Given the description of an element on the screen output the (x, y) to click on. 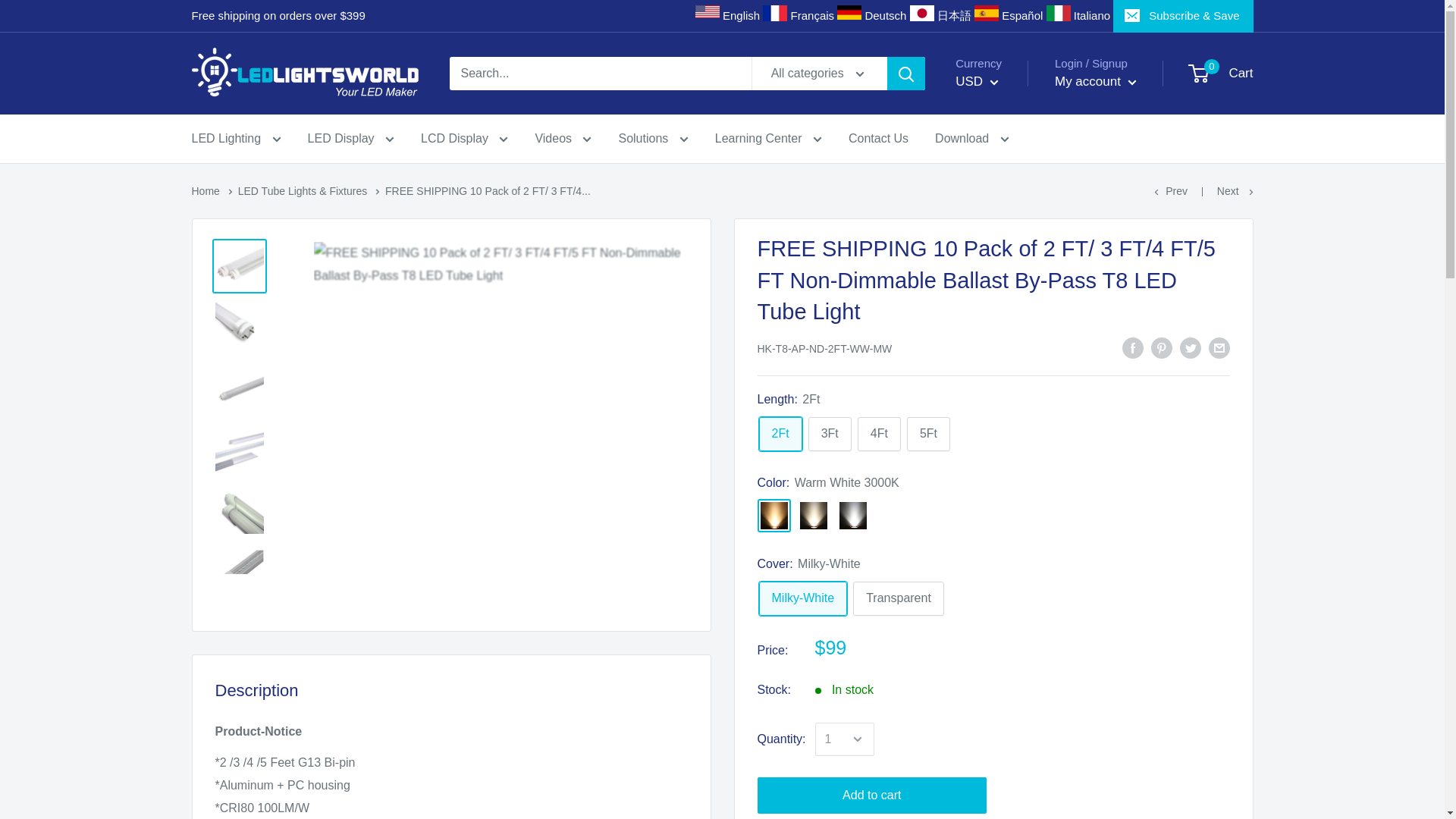
Warm White 3000K (773, 515)
Pure White 5500K (852, 515)
Natural White 4000K (813, 515)
4Ft (879, 433)
3Ft (829, 433)
English (741, 15)
Deutsch (884, 15)
2Ft (780, 433)
Italiano (1091, 15)
5Ft (928, 433)
